Given the description of an element on the screen output the (x, y) to click on. 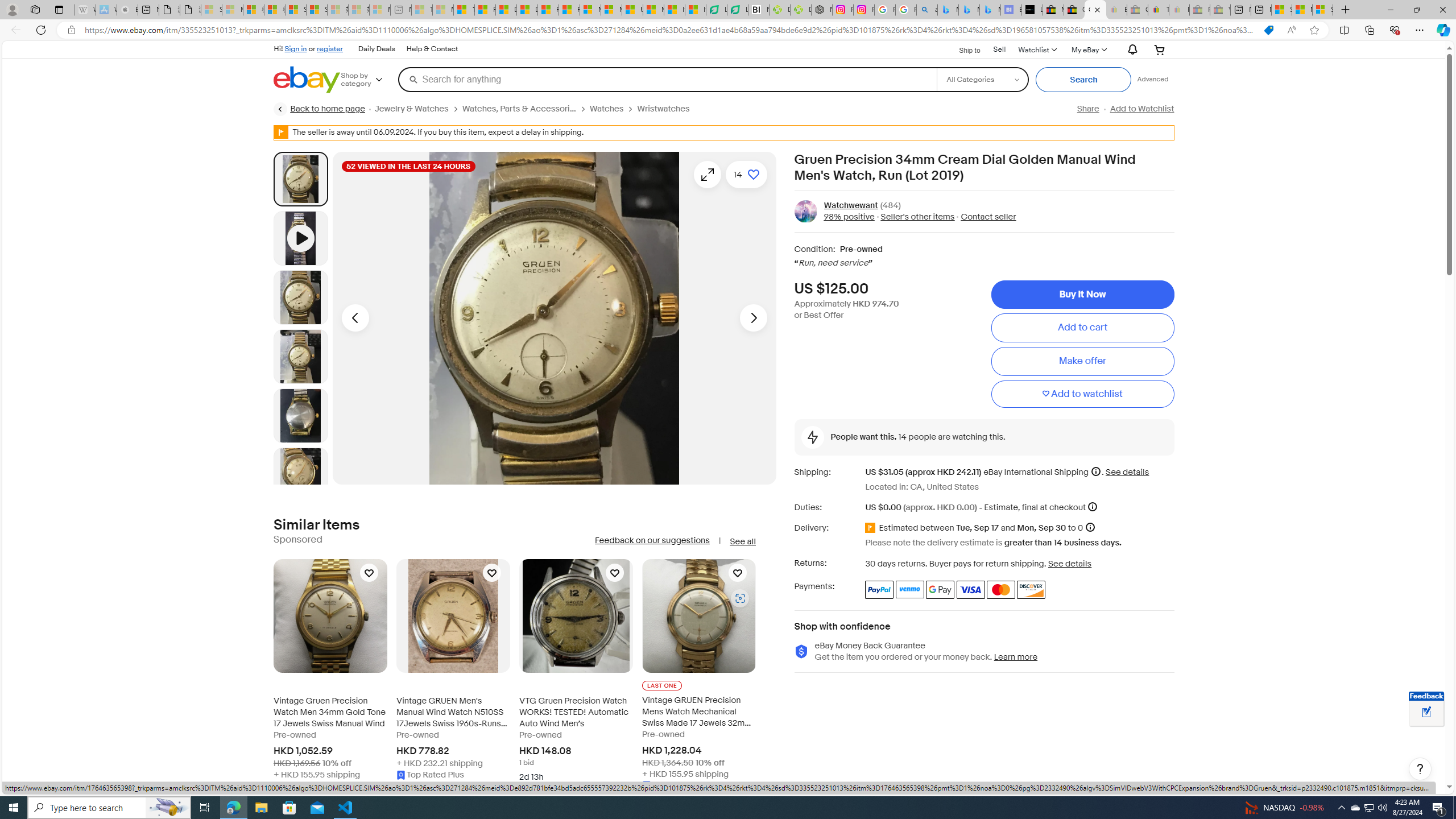
alabama high school quarterback dies - Search (926, 9)
Picture 2 of 13 (300, 297)
AutomationID: gh-eb-Alerts (1131, 49)
Seller's other items (917, 216)
Jewelry & Watches (411, 108)
Back to home page (319, 109)
Picture 4 of 13 (300, 415)
Picture 5 of 13 (300, 474)
Yard, Garden & Outdoor Living - Sleeping (1219, 9)
Advanced Search (1152, 78)
